Given the description of an element on the screen output the (x, y) to click on. 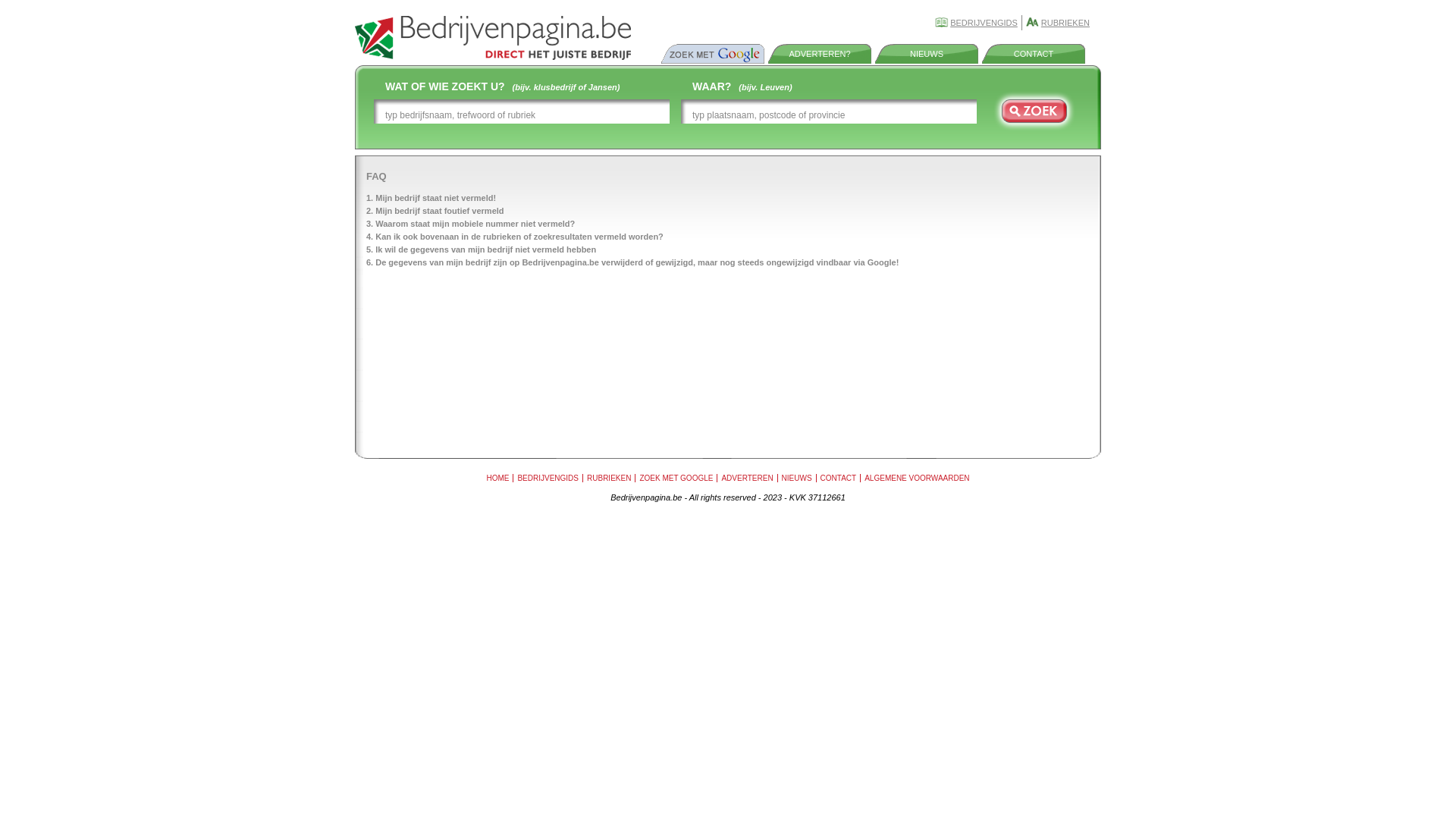
1. Mijn bedrijf staat niet vermeld! Element type: text (430, 197)
BEDRIJVENGIDS Element type: text (547, 477)
RUBRIEKEN Element type: text (608, 477)
ADVERTEREN? Element type: text (819, 53)
BEDRIJVENGIDS Element type: text (983, 22)
CONTACT Element type: text (838, 477)
5. Ik wil de gegevens van mijn bedrijf niet vermeld hebben Element type: text (481, 249)
ZOEK MET GOOGLE Element type: text (675, 477)
2. Mijn bedrijf staat foutief vermeld Element type: text (435, 210)
CONTACT Element type: text (1033, 53)
ALGEMENE VOORWAARDEN Element type: text (916, 477)
NIEUWS Element type: text (796, 477)
NIEUWS Element type: text (926, 53)
ADVERTEREN Element type: text (746, 477)
HOME Element type: text (497, 477)
RUBRIEKEN Element type: text (1065, 22)
3. Waarom staat mijn mobiele nummer niet vermeld? Element type: text (470, 223)
